Given the description of an element on the screen output the (x, y) to click on. 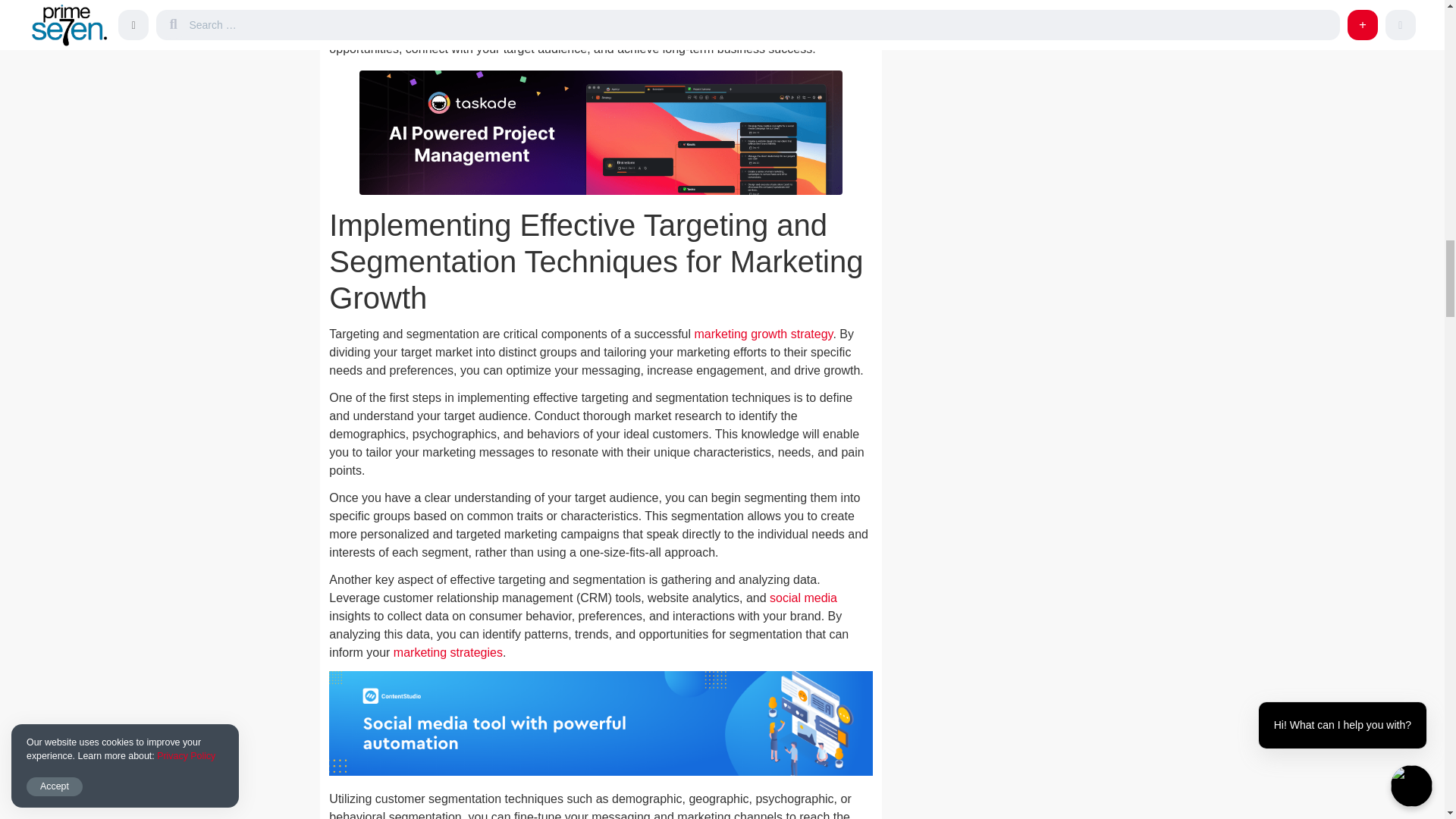
taskade-ai2-970-x-250-1 (600, 132)
930x180 Blue 3 (600, 722)
